Given the description of an element on the screen output the (x, y) to click on. 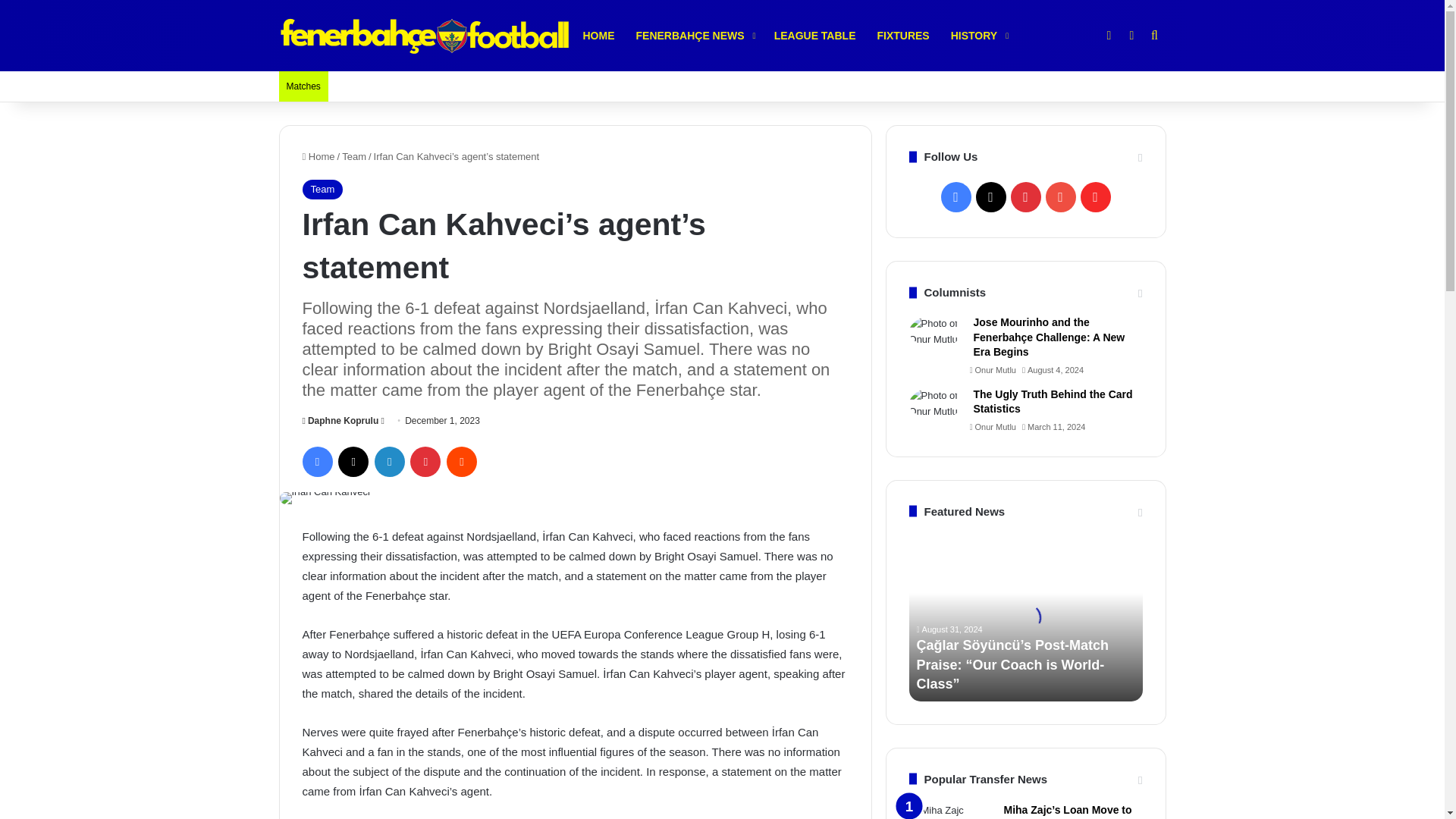
Team (321, 189)
Daphne Koprulu (339, 420)
LEAGUE TABLE (814, 35)
Home (317, 156)
LinkedIn (389, 461)
Reddit (461, 461)
Facebook (316, 461)
X (352, 461)
Pinterest (425, 461)
Daphne Koprulu (339, 420)
